Given the description of an element on the screen output the (x, y) to click on. 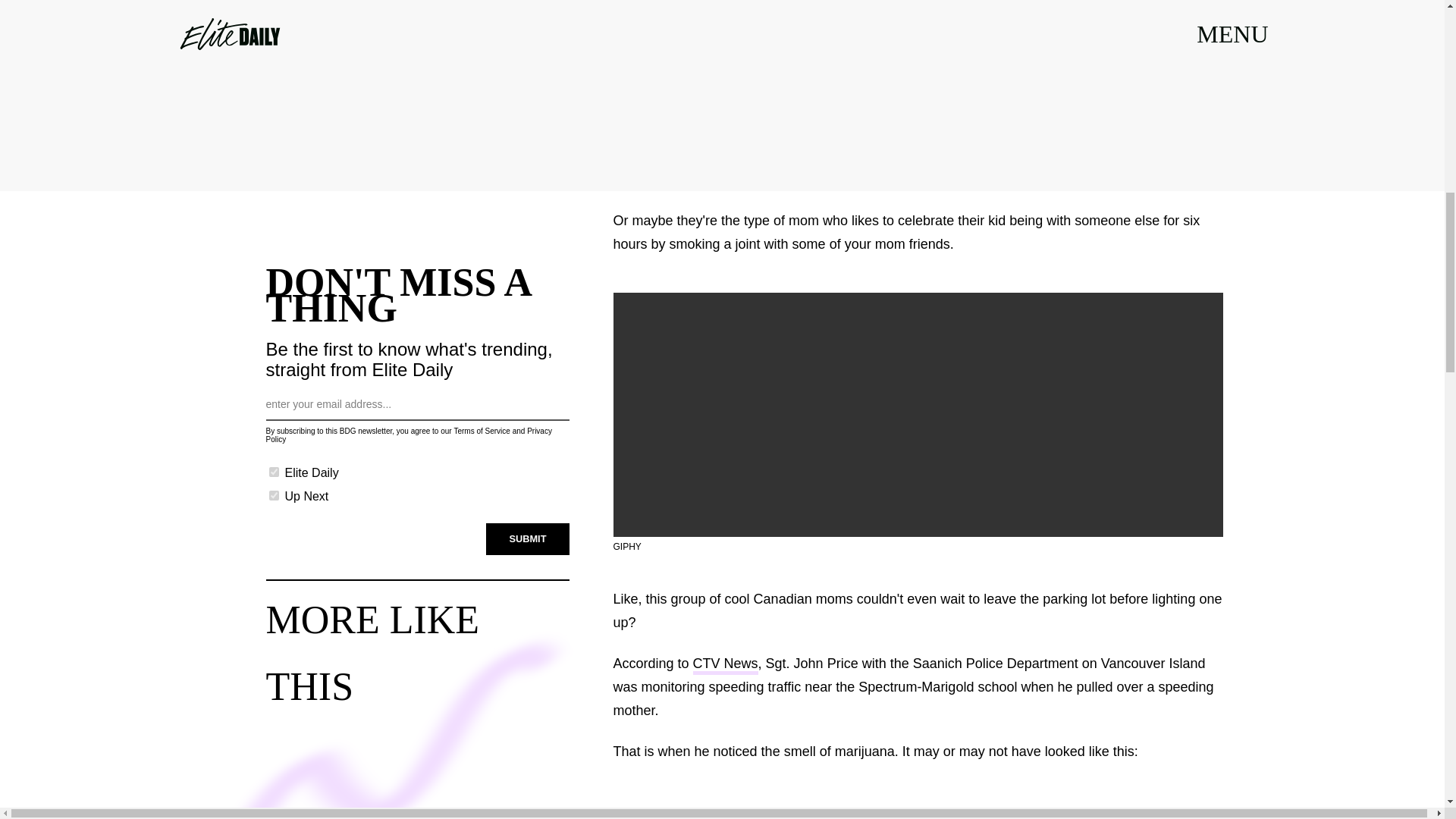
Privacy Policy (407, 434)
Terms of Service (480, 430)
CTV News (725, 665)
SUBMIT (527, 539)
